Given the description of an element on the screen output the (x, y) to click on. 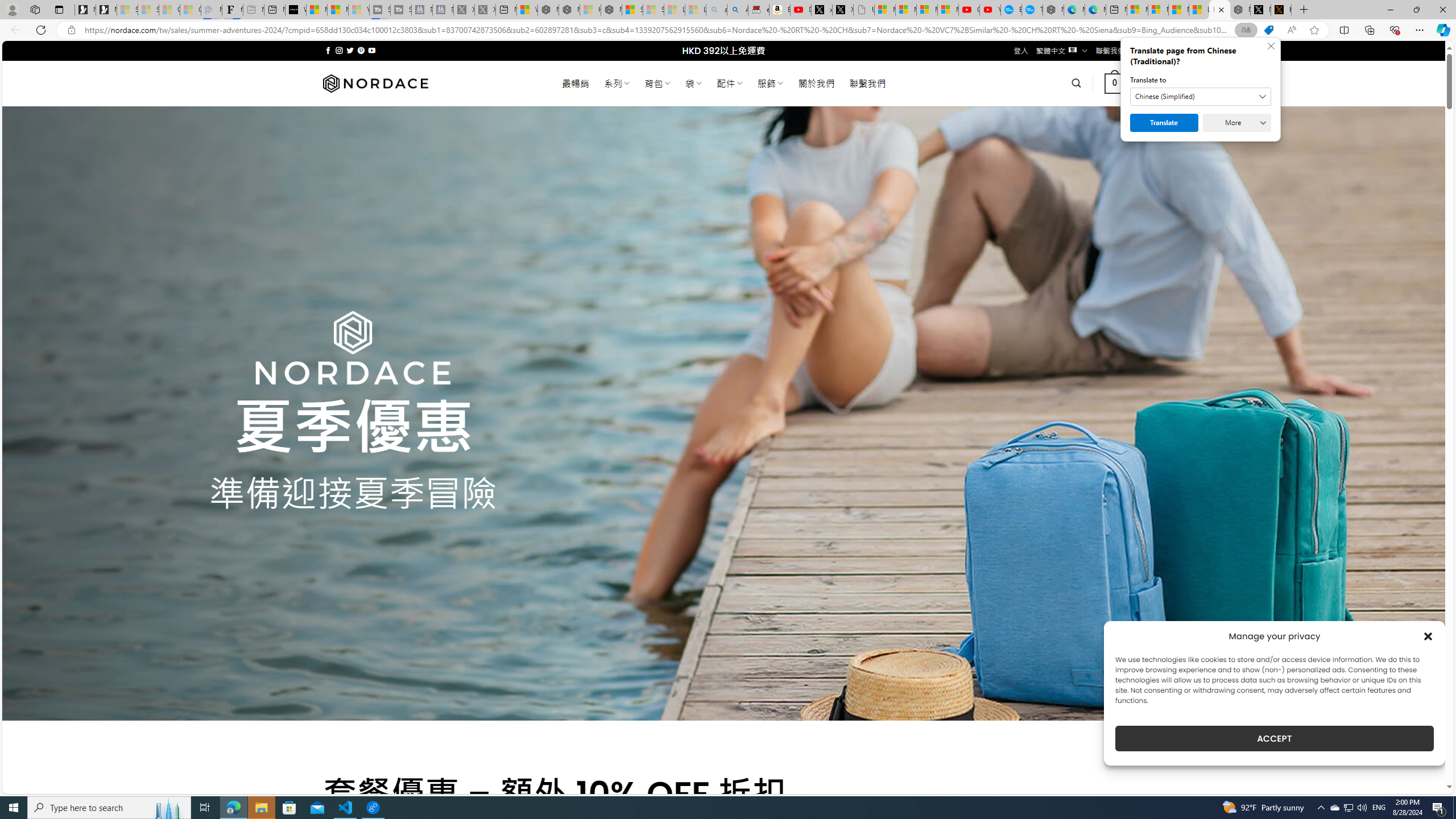
Microsoft account | Privacy (1157, 9)
Amazon Echo Dot PNG - Search Images (737, 9)
Translate (1163, 122)
